Given the description of an element on the screen output the (x, y) to click on. 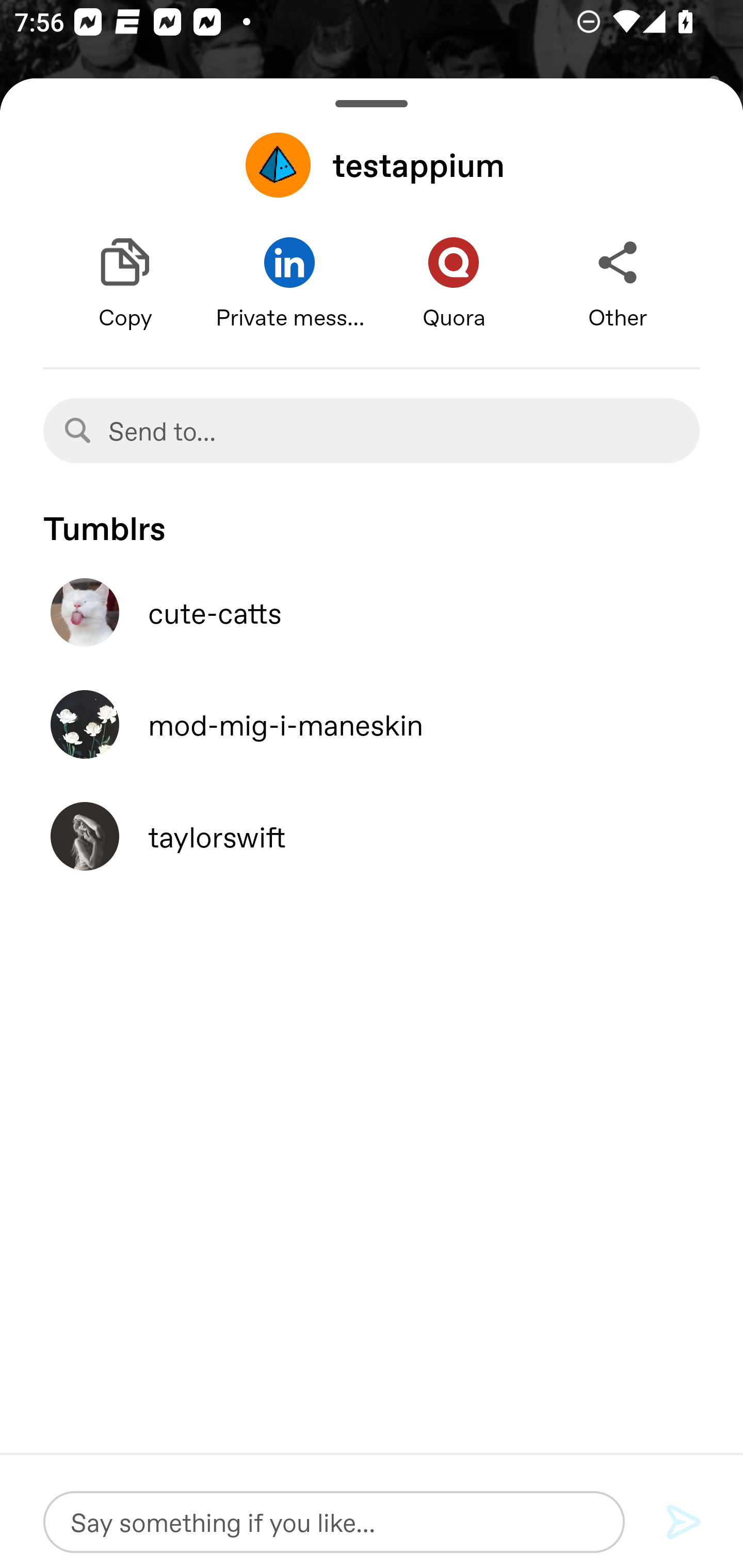
testappium (371, 164)
Copy (125, 284)
Private message (289, 284)
Quora (453, 284)
Other (617, 284)
Send to… (371, 430)
Tumblrs (371, 518)
cute-catts (371, 611)
mod-mig-i-maneskin (371, 723)
taylorswift (371, 836)
Send (683, 1522)
Say something if you like… (333, 1521)
